Given the description of an element on the screen output the (x, y) to click on. 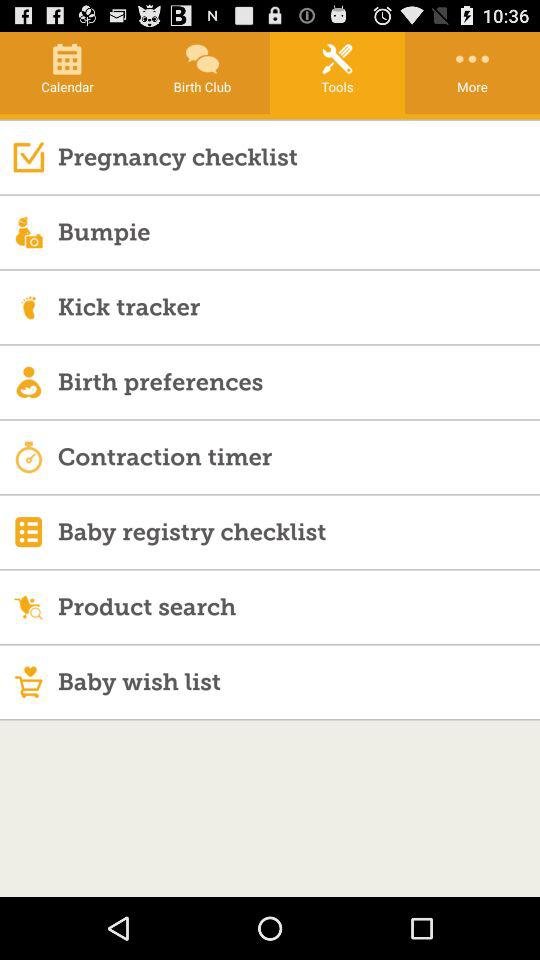
scroll until contraction timer item (298, 456)
